Given the description of an element on the screen output the (x, y) to click on. 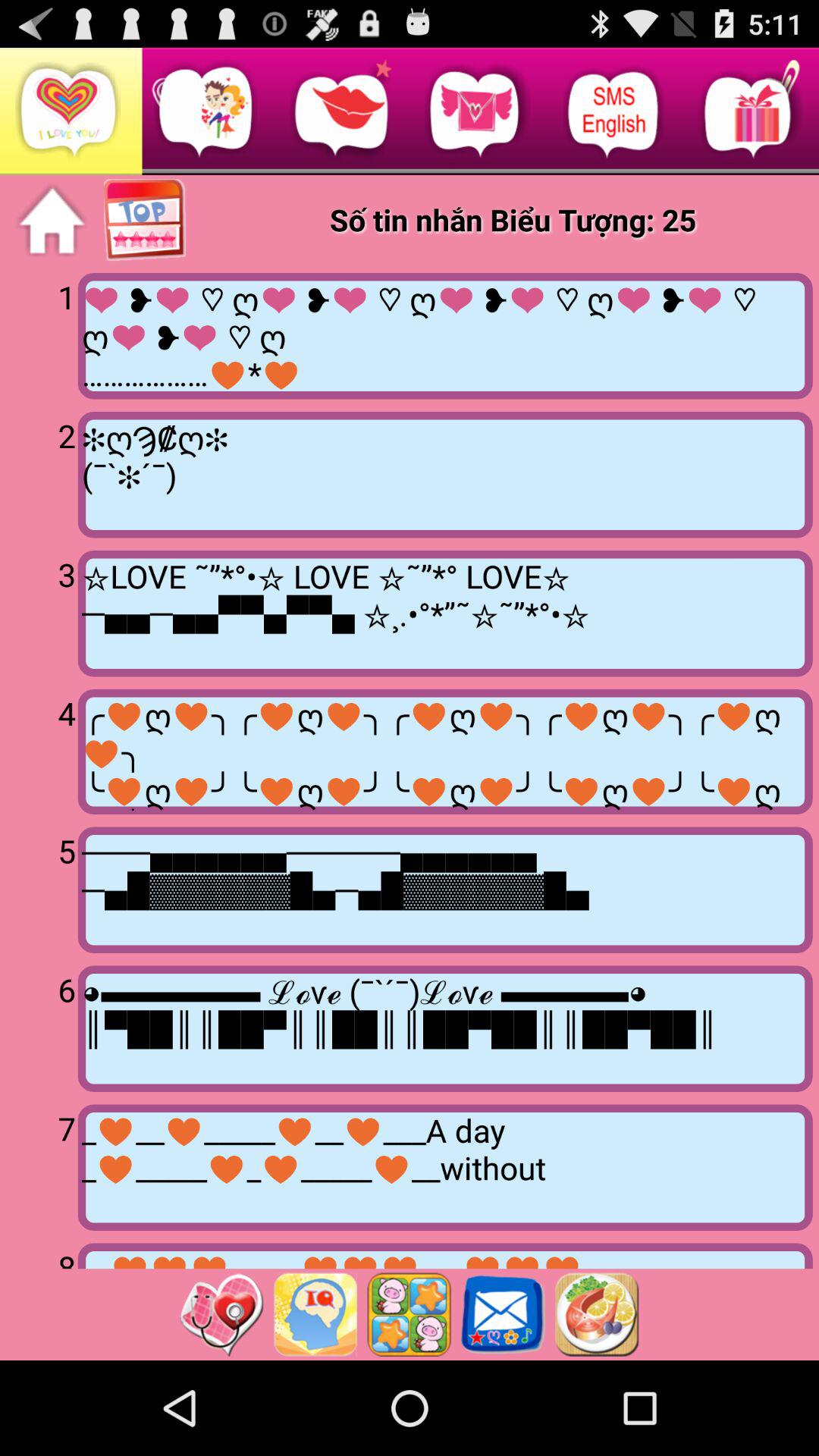
open mailbox (502, 1314)
